Given the description of an element on the screen output the (x, y) to click on. 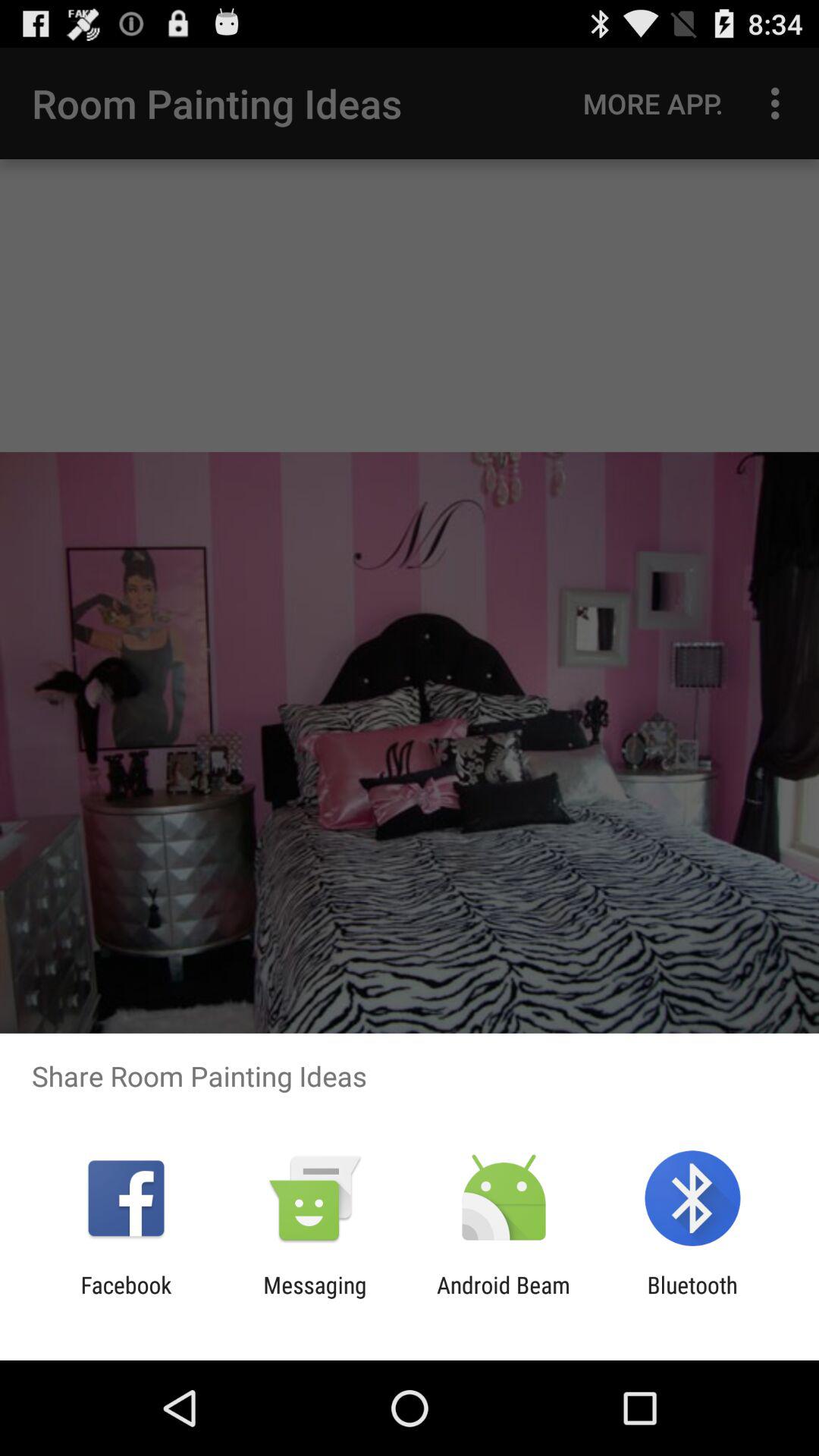
press the app next to the facebook (314, 1298)
